Given the description of an element on the screen output the (x, y) to click on. 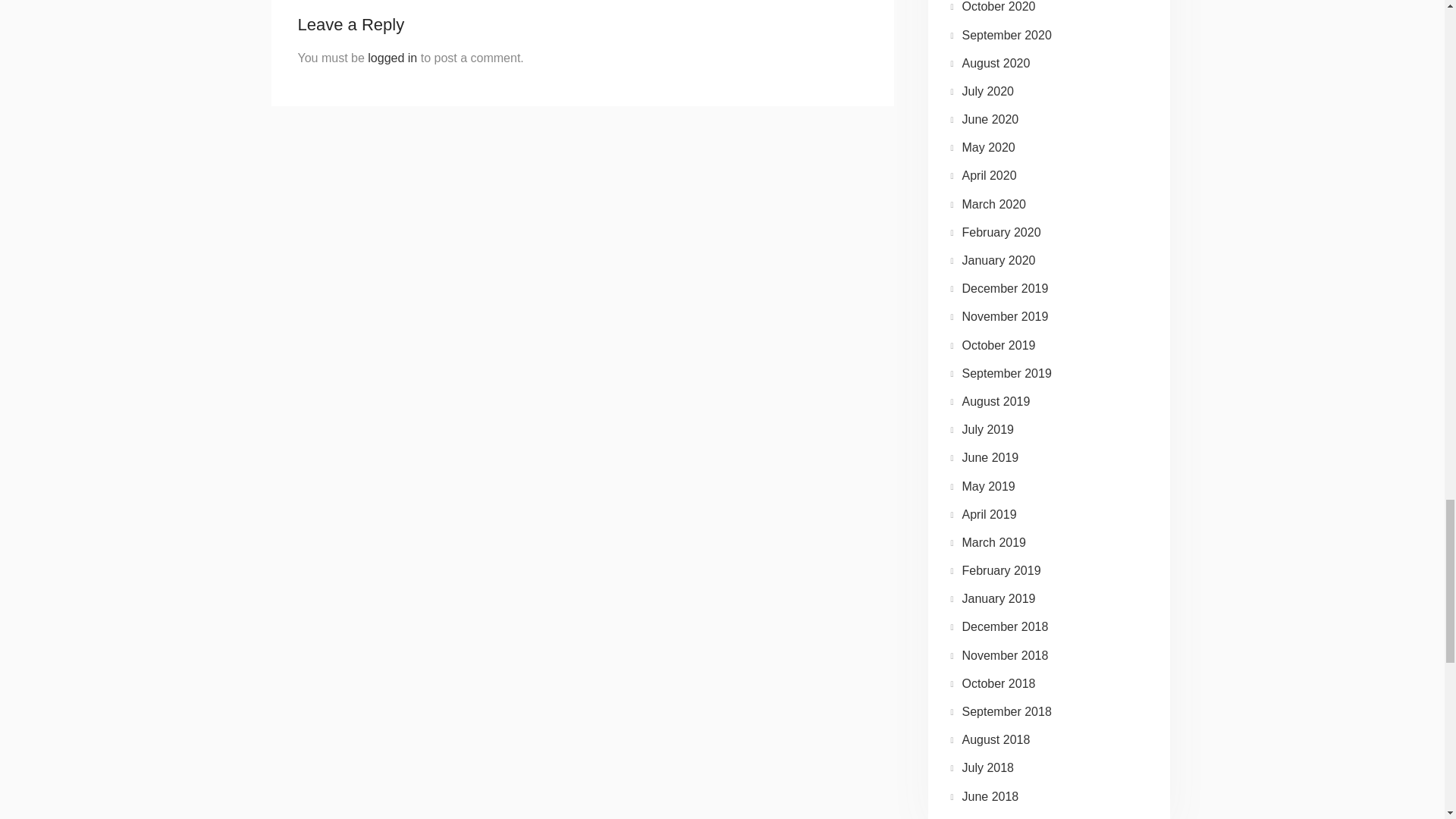
logged in (392, 57)
